Given the description of an element on the screen output the (x, y) to click on. 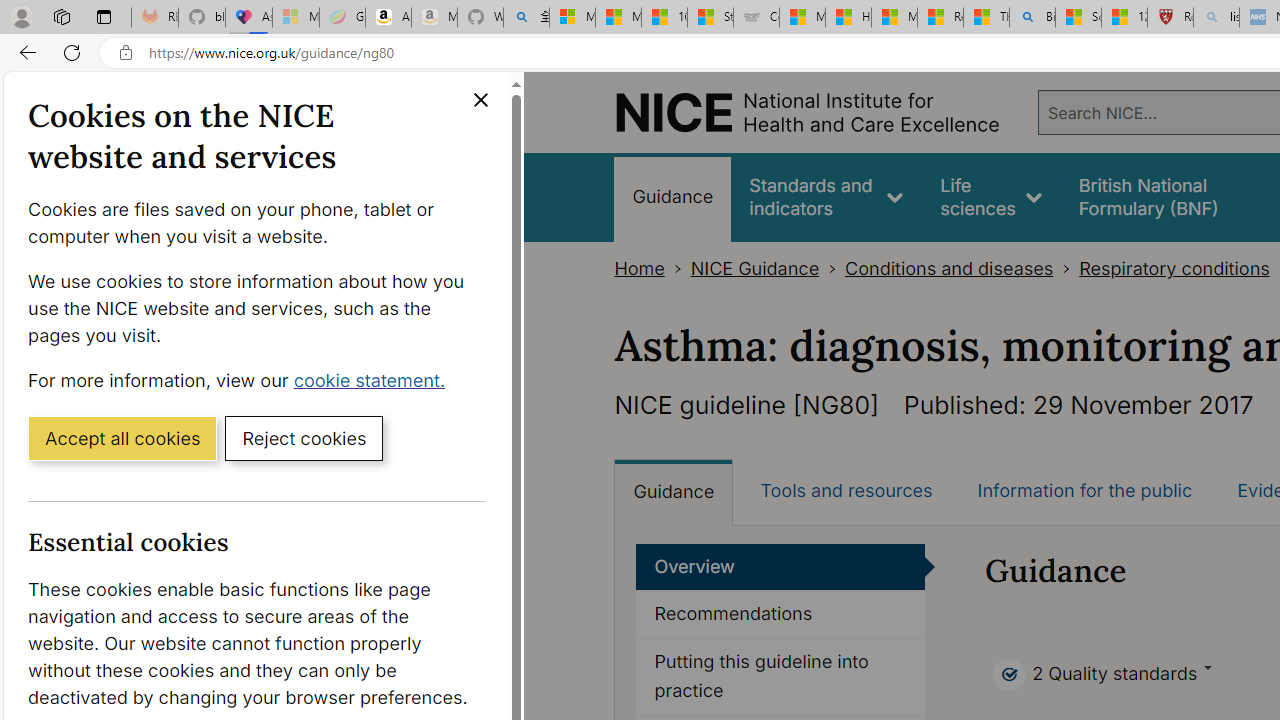
Respiratory conditions (1174, 268)
Life sciences (991, 196)
Information for the public (1084, 490)
Close cookie banner (480, 99)
Tools and resources (846, 490)
Home> (652, 268)
